Given the description of an element on the screen output the (x, y) to click on. 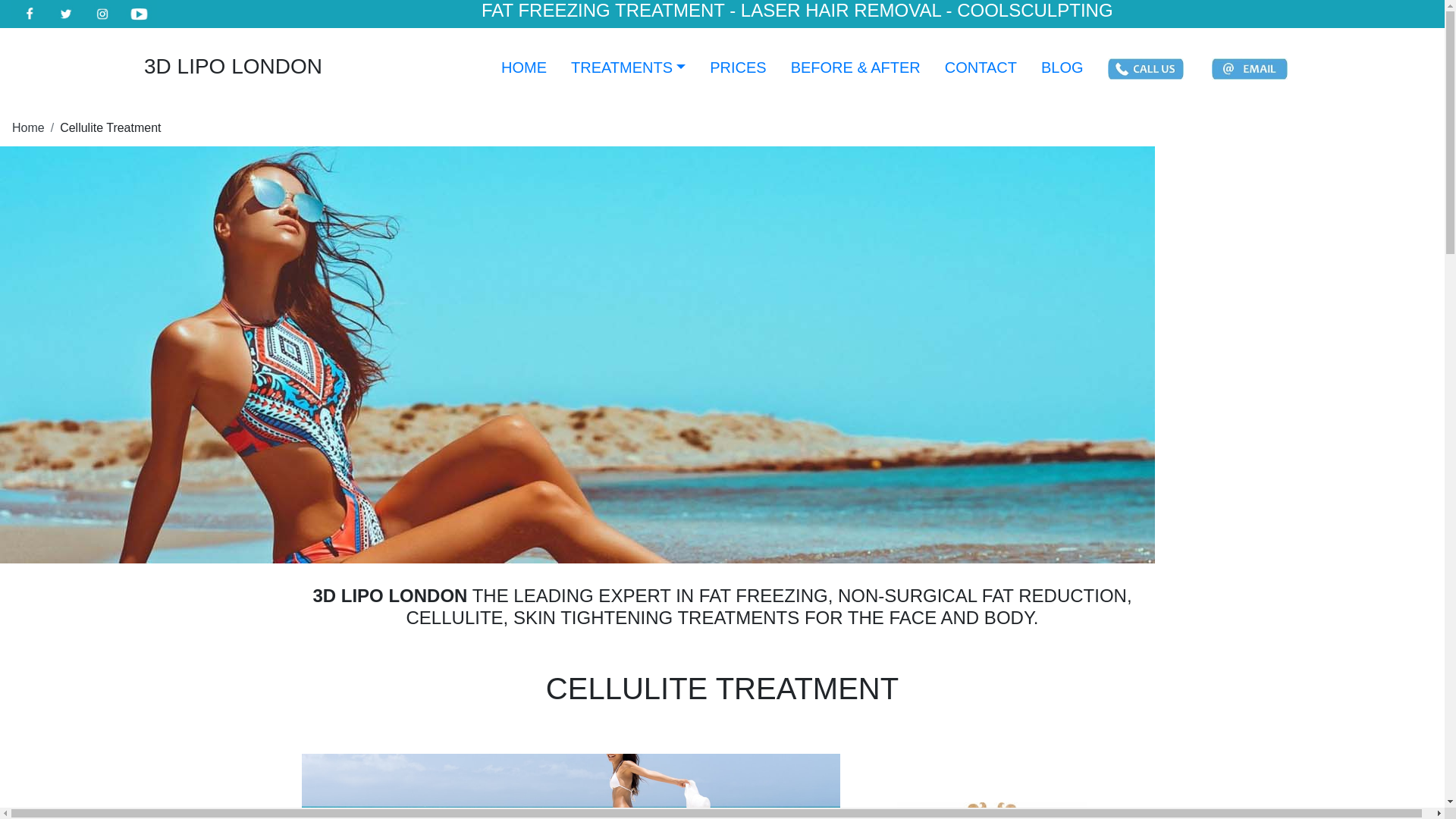
TREATMENTS Element type: text (627, 67)
HOME Element type: text (523, 67)
  Element type: text (1251, 68)
BLOG Element type: text (1062, 67)
CONTACT Element type: text (980, 67)
  Element type: text (1147, 68)
PRICES Element type: text (737, 67)
Home Element type: text (28, 127)
BEFORE & AFTER Element type: text (855, 67)
